Given the description of an element on the screen output the (x, y) to click on. 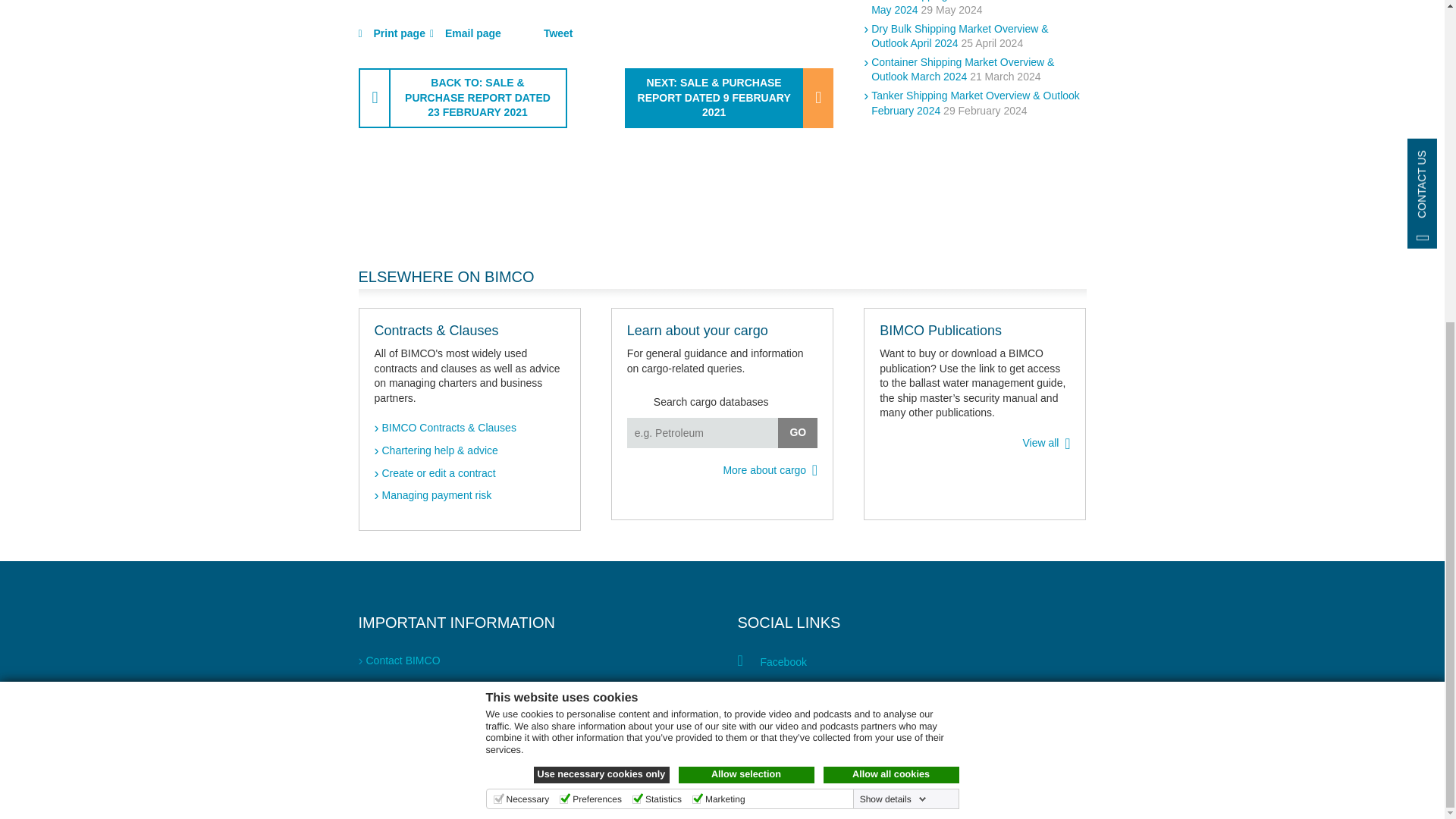
Show details (893, 273)
Go (796, 432)
Allow selection (745, 248)
Allow all cookies (891, 248)
Use necessary cookies only (601, 248)
Go (796, 432)
